Given the description of an element on the screen output the (x, y) to click on. 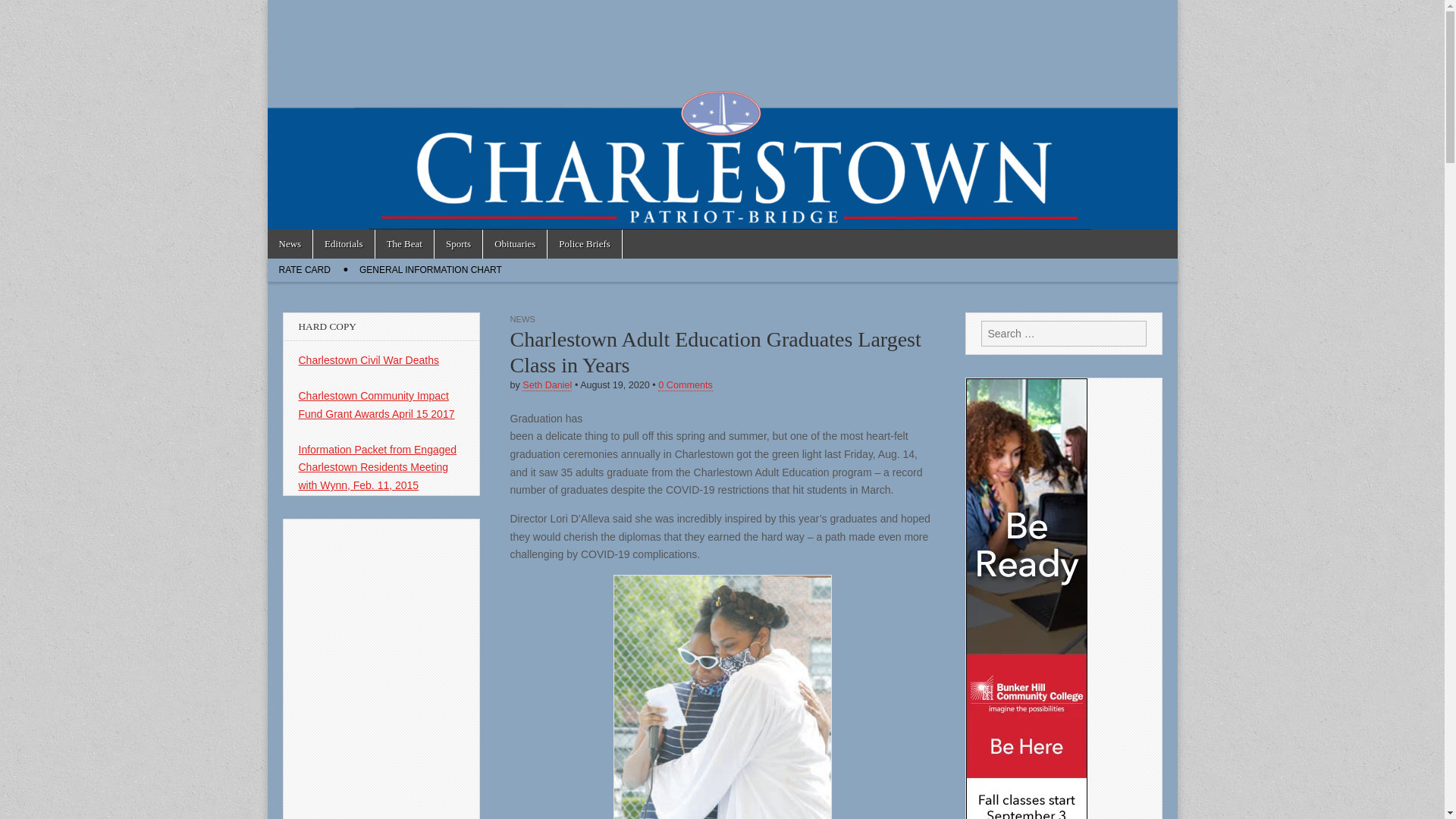
Sports (457, 244)
Posts by Seth Daniel (547, 385)
News (289, 244)
RATE CARD (303, 269)
Search (23, 12)
Editorials (343, 244)
Charlestown Civil War Deaths (368, 359)
The Beat (404, 244)
0 Comments (684, 385)
